Given the description of an element on the screen output the (x, y) to click on. 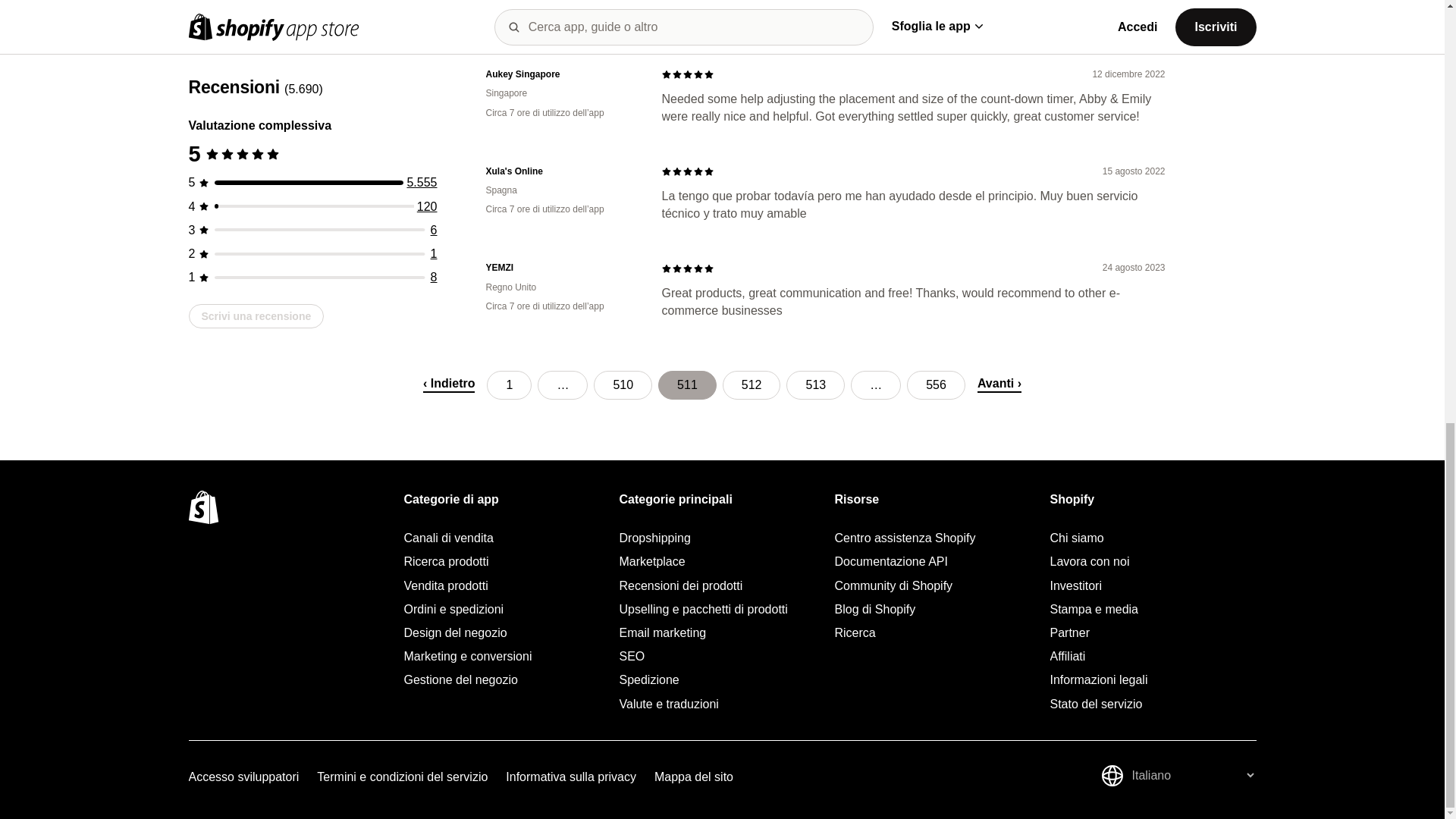
Aukey Singapore (560, 74)
YEMZI (560, 267)
Xula's Online (560, 170)
